Given the description of an element on the screen output the (x, y) to click on. 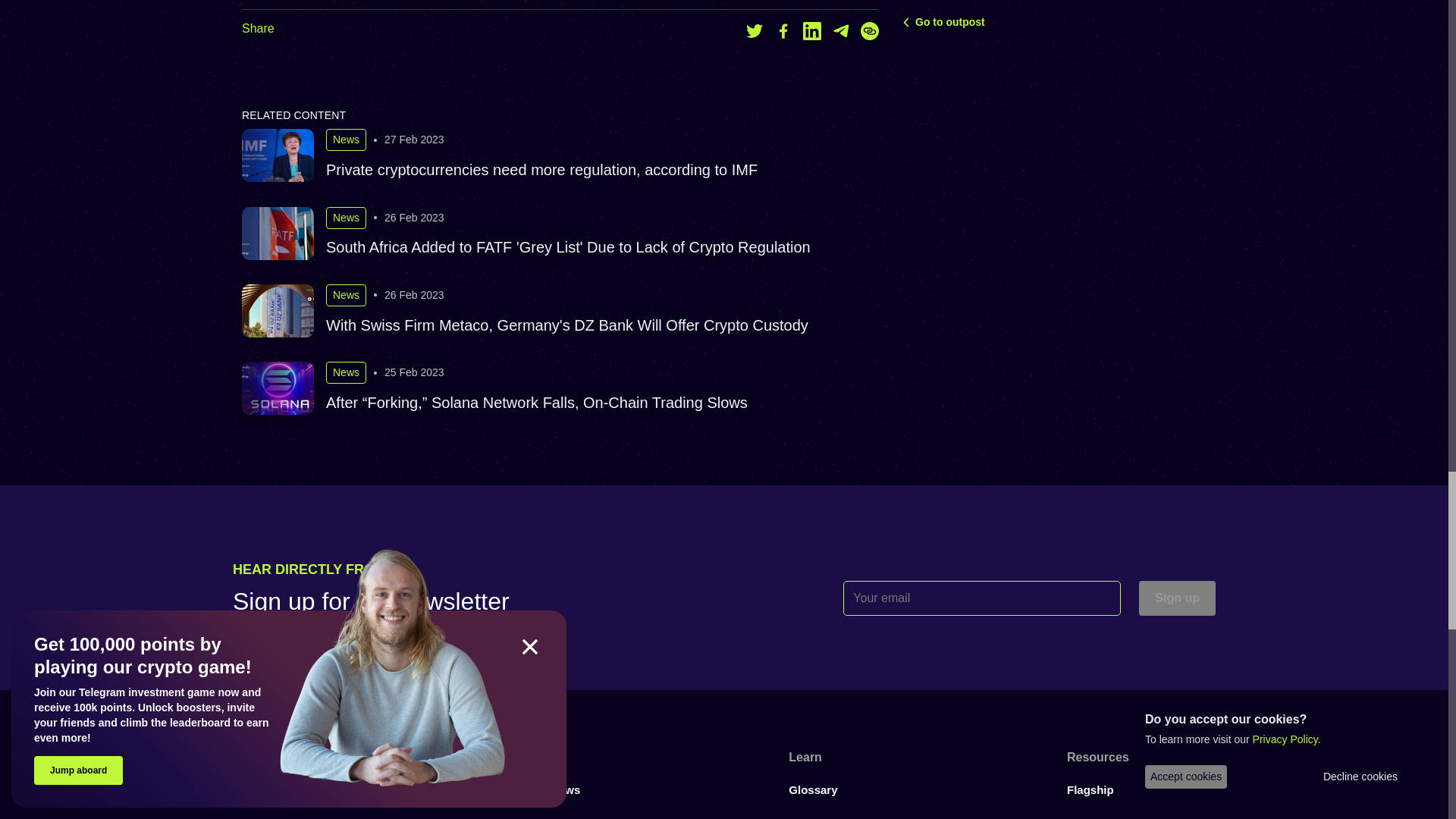
News (346, 139)
News (346, 218)
